Given the description of an element on the screen output the (x, y) to click on. 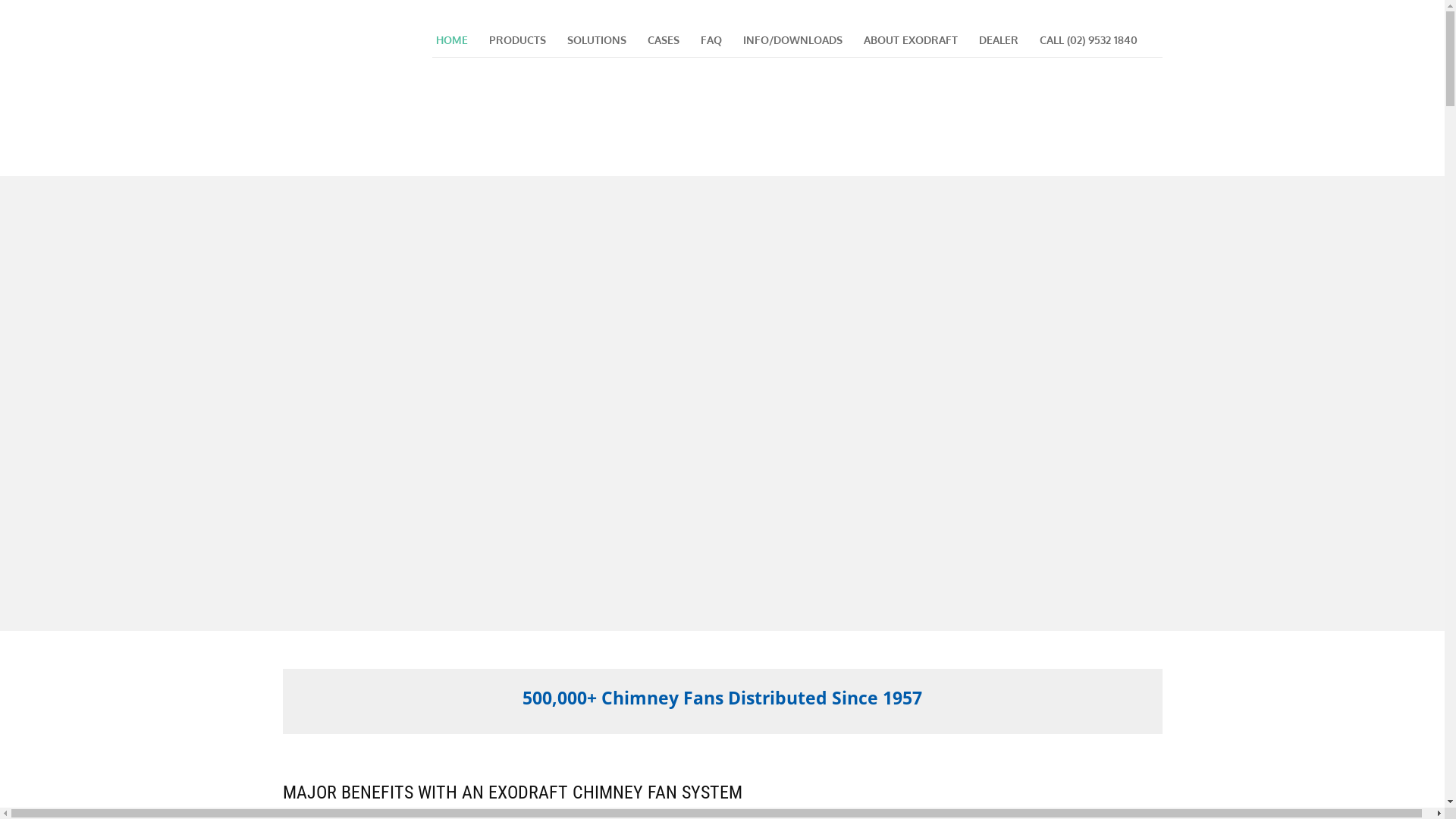
ABOUT EXODRAFT Element type: text (910, 40)
INFO/DOWNLOADS Element type: text (791, 40)
CALL (02) 9532 1840 Element type: text (1088, 40)
PRODUCTS Element type: text (517, 40)
SOLUTIONS Element type: text (595, 40)
FAQ Element type: text (710, 40)
CASES Element type: text (662, 40)
DEALER Element type: text (998, 40)
HOME Element type: text (451, 40)
